Given the description of an element on the screen output the (x, y) to click on. 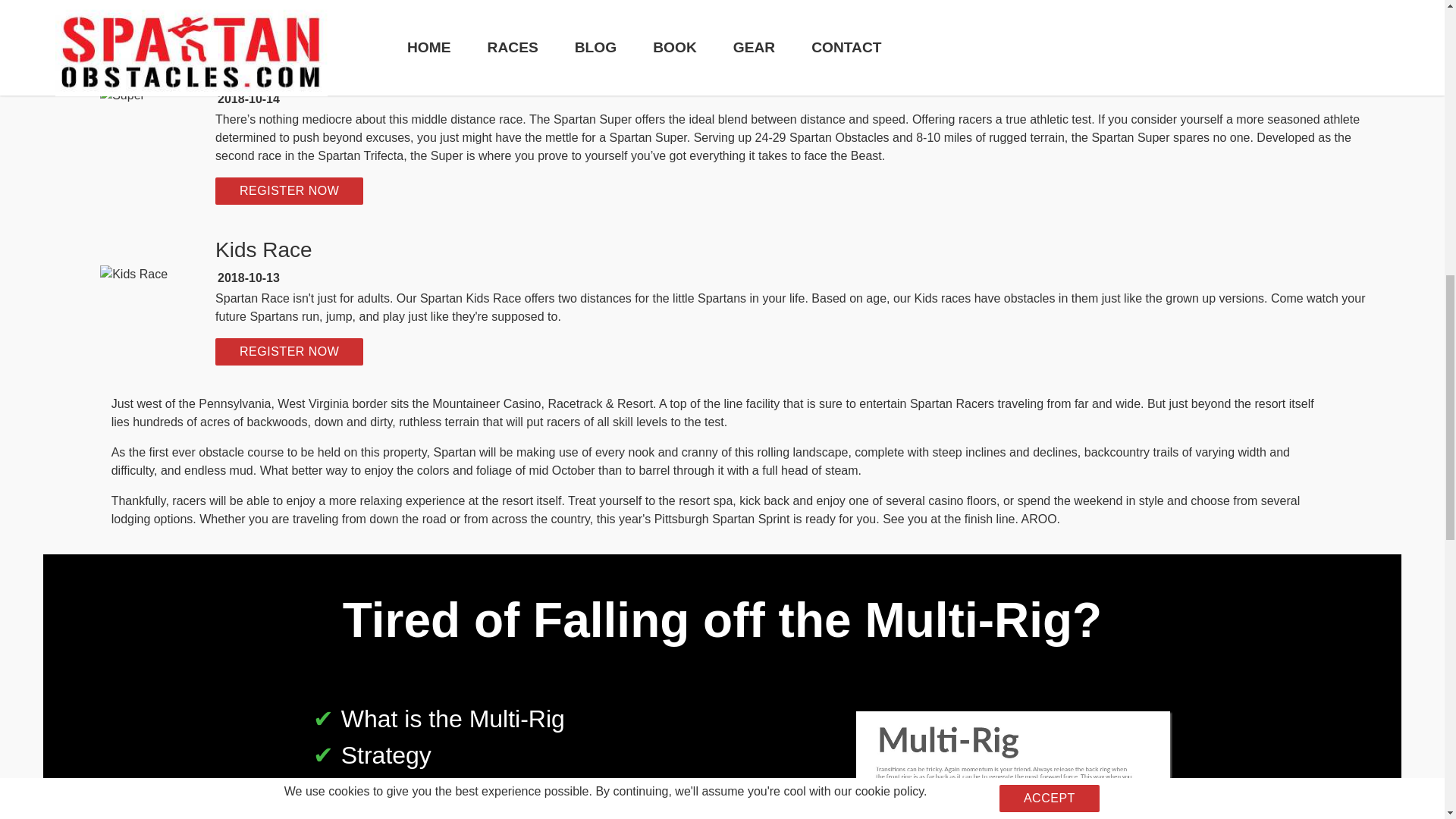
REGISTER NOW (288, 12)
REGISTER NOW (288, 351)
REGISTER NOW (288, 190)
